Given the description of an element on the screen output the (x, y) to click on. 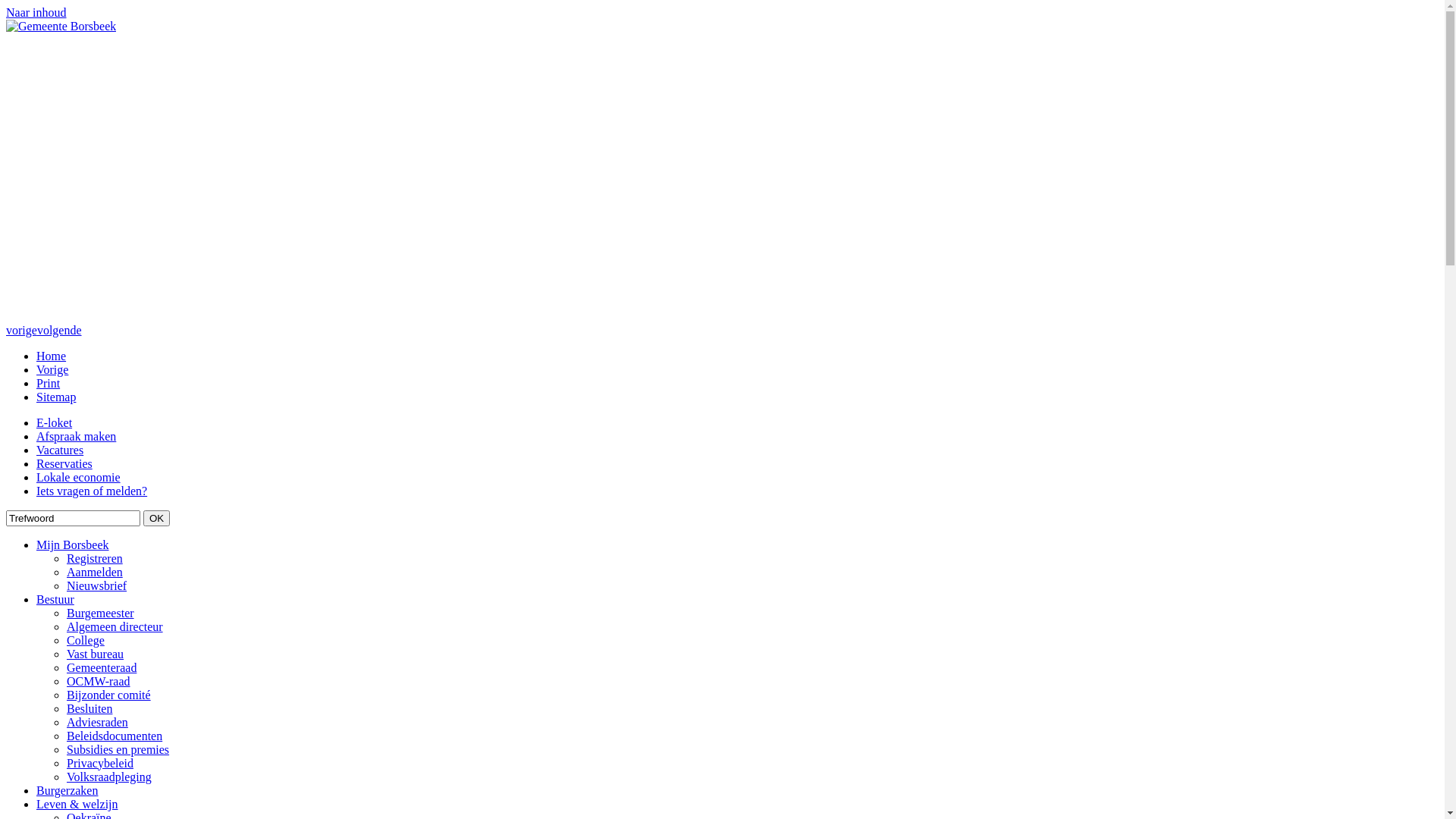
Besluiten Element type: text (89, 708)
E-loket Element type: text (54, 422)
Algemeen directeur Element type: text (114, 626)
Privacybeleid Element type: text (99, 762)
Burgerzaken Element type: text (66, 790)
Reservaties Element type: text (64, 463)
Beleidsdocumenten Element type: text (114, 735)
Volksraadpleging Element type: text (108, 776)
Vast bureau Element type: text (94, 653)
Mijn Borsbeek Element type: text (72, 544)
Iets vragen of melden? Element type: text (91, 490)
Naar inhoud Element type: text (36, 12)
Lokale economie Element type: text (78, 476)
Registreren Element type: text (94, 558)
Sitemap Element type: text (55, 396)
Aanmelden Element type: text (94, 571)
vorige Element type: text (21, 329)
Gemeenteraad Element type: text (101, 667)
Afspraak maken Element type: text (76, 435)
Print Element type: text (47, 382)
Vorige Element type: text (52, 369)
Subsidies en premies Element type: text (117, 749)
OCMW-raad Element type: text (98, 680)
Nieuwsbrief Element type: text (96, 585)
Vacatures Element type: text (59, 449)
College Element type: text (85, 639)
Bestuur Element type: text (55, 599)
Burgemeester Element type: text (100, 612)
Home Element type: text (50, 355)
Terug naar de homepagina Element type: hover (61, 25)
volgende Element type: text (59, 329)
Adviesraden Element type: text (97, 721)
OK Element type: text (156, 518)
Leven & welzijn Element type: text (77, 803)
